Given the description of an element on the screen output the (x, y) to click on. 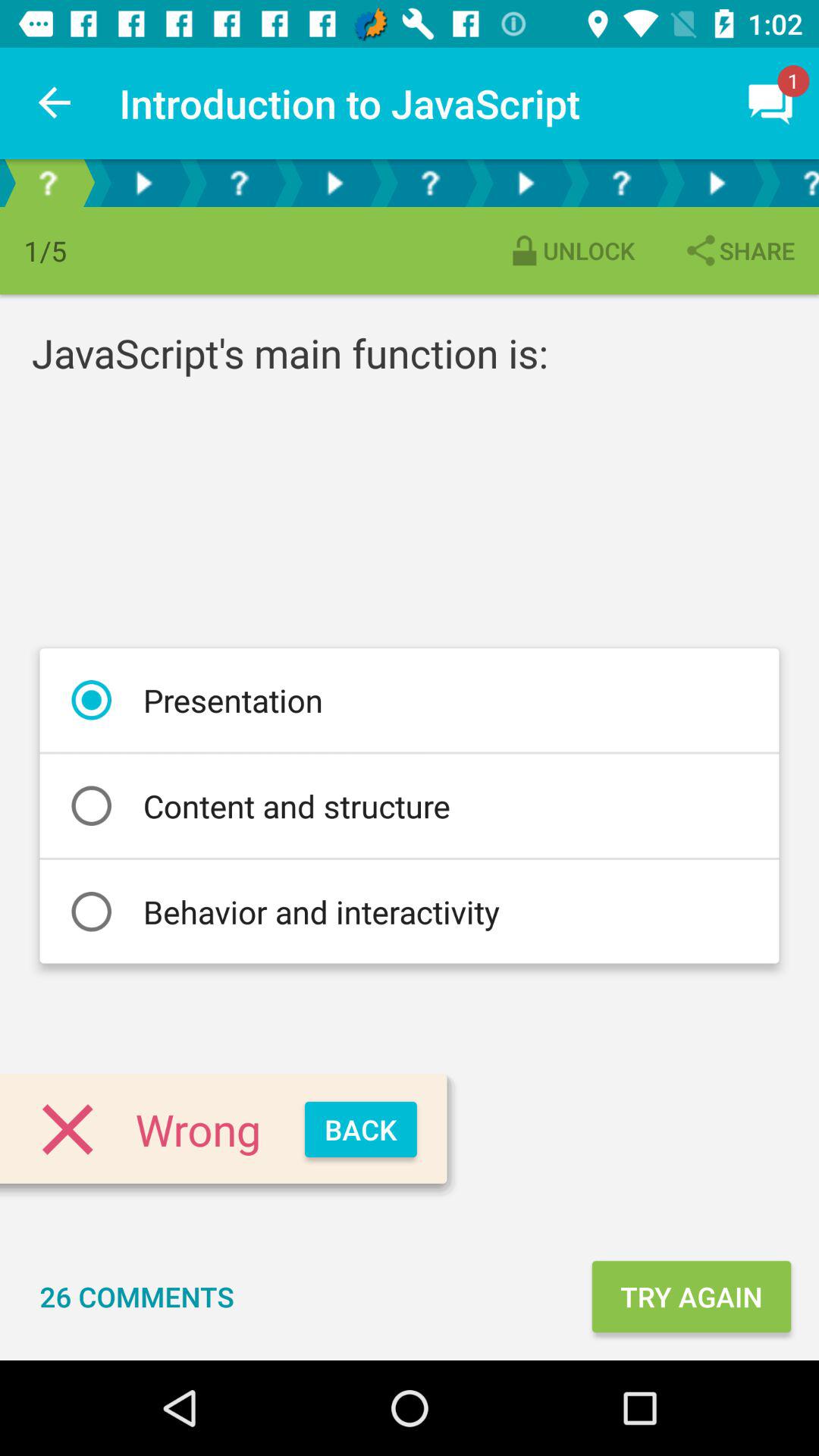
take a quiz question (429, 183)
